Given the description of an element on the screen output the (x, y) to click on. 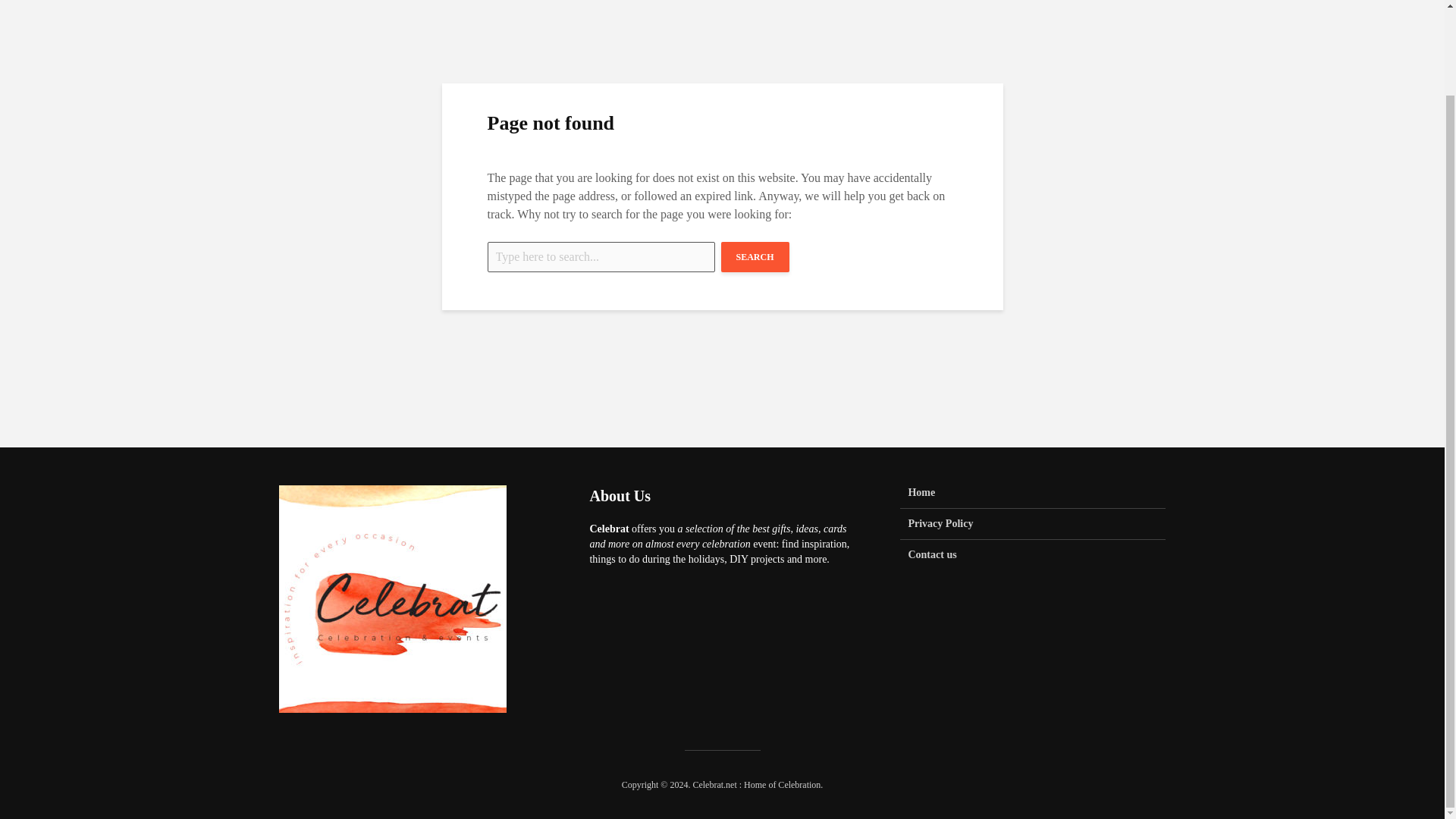
Privacy Policy (1032, 523)
SEARCH (754, 256)
Home (1032, 496)
Contact us (1032, 554)
